Given the description of an element on the screen output the (x, y) to click on. 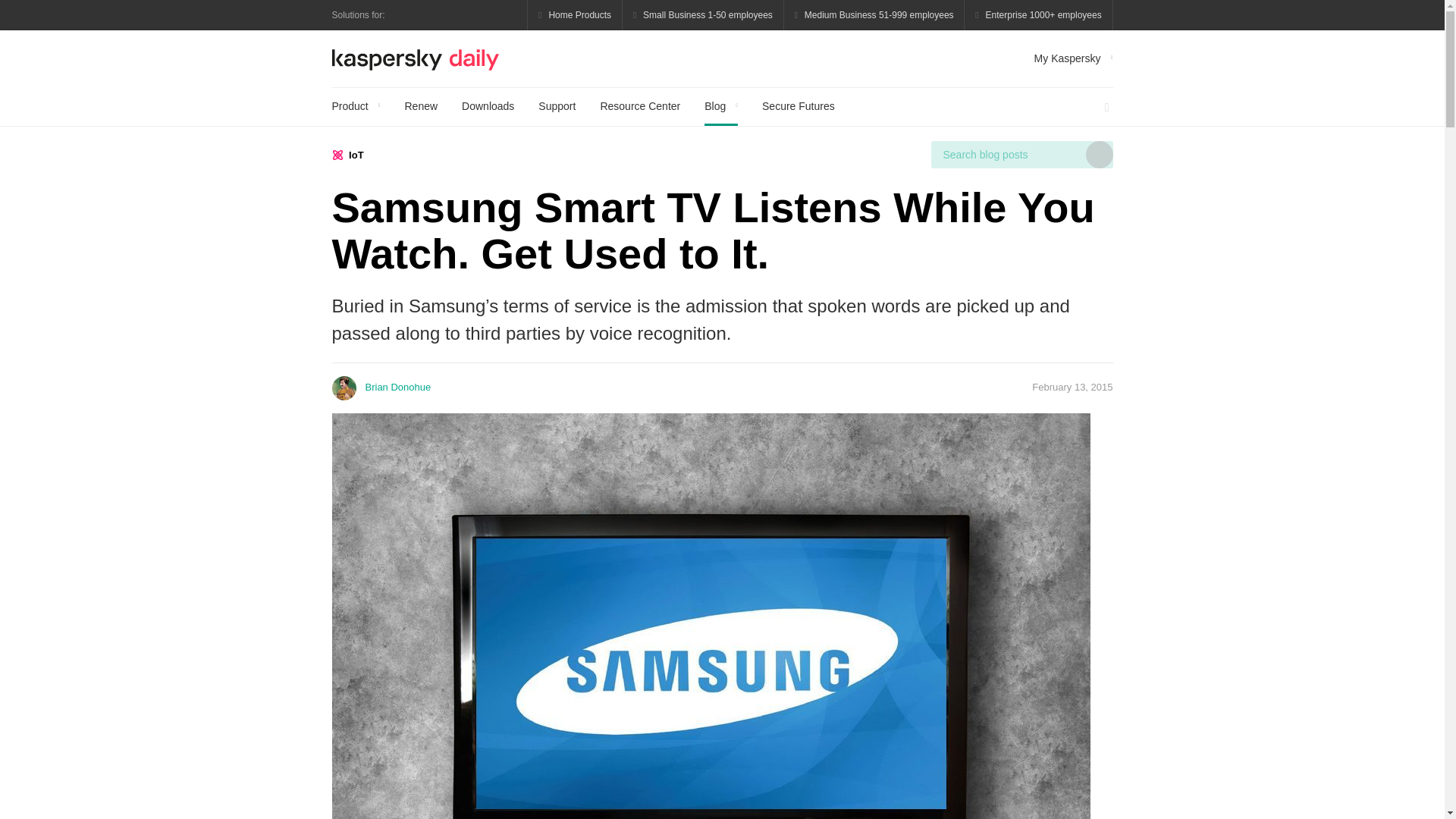
Home Products (575, 15)
Product (355, 106)
Renew (421, 106)
Small Business 1-50 employees (703, 15)
Resource Center (639, 106)
font-icons icon-small-business (703, 15)
Kaspersky official blog (415, 58)
Support (556, 106)
Blog (721, 106)
Kaspersky official blog (415, 58)
Downloads (487, 106)
Secure Futures (797, 106)
Medium Business 51-999 employees (874, 15)
My Kaspersky (1073, 58)
